Given the description of an element on the screen output the (x, y) to click on. 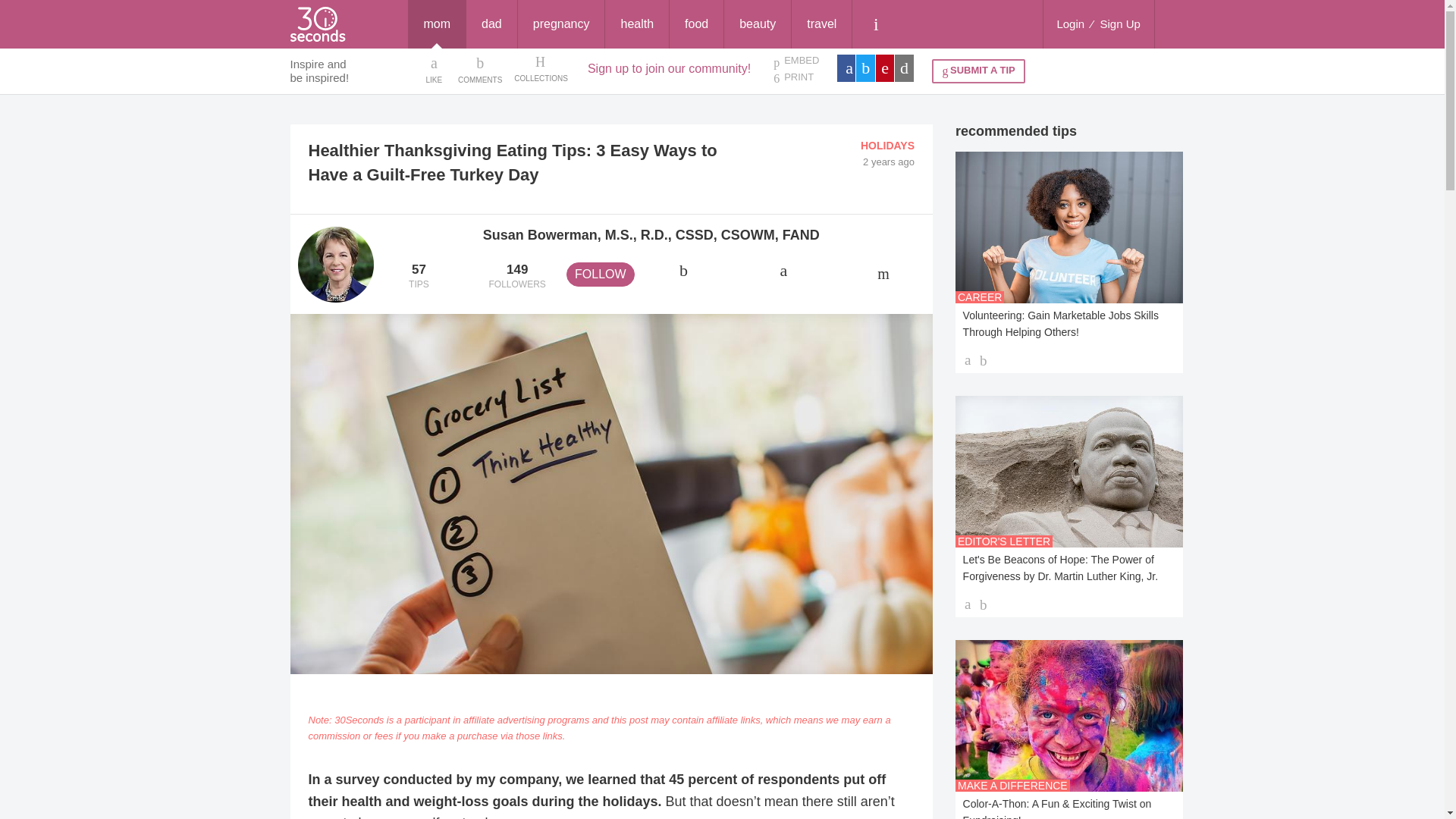
PRINT (795, 77)
SUBMIT A TIP (978, 70)
travel (821, 24)
Sign up to join our community! (669, 68)
COMMENTS (480, 68)
COMMENTS (480, 68)
food (696, 24)
health (636, 24)
pregnancy (561, 24)
HOLIDAYS (887, 145)
